Given the description of an element on the screen output the (x, y) to click on. 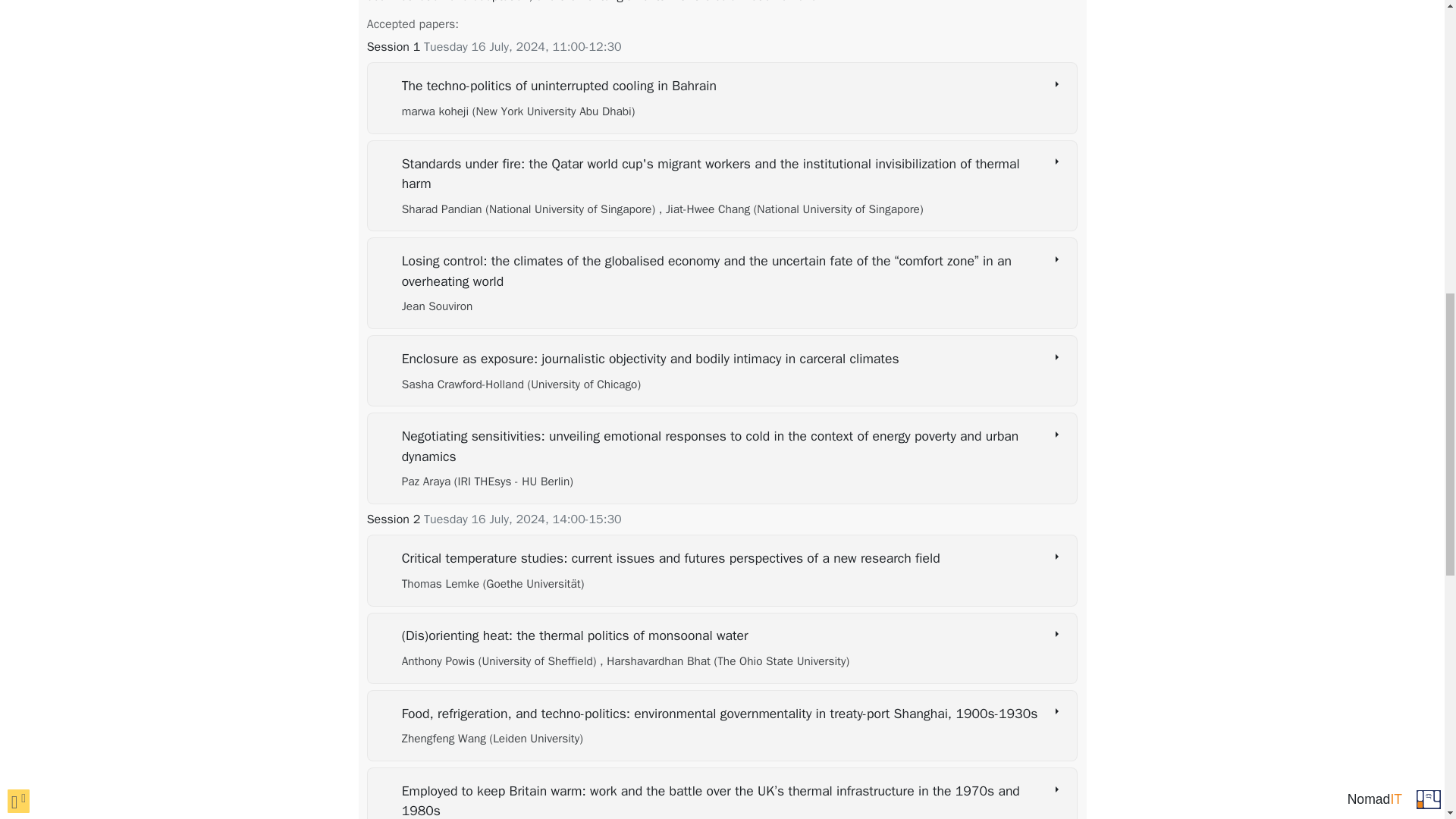
Author (500, 661)
Author (517, 111)
Author (493, 583)
Author (487, 481)
Author (723, 661)
Author (530, 209)
Author (520, 384)
Author (437, 305)
Author (791, 209)
